Given the description of an element on the screen output the (x, y) to click on. 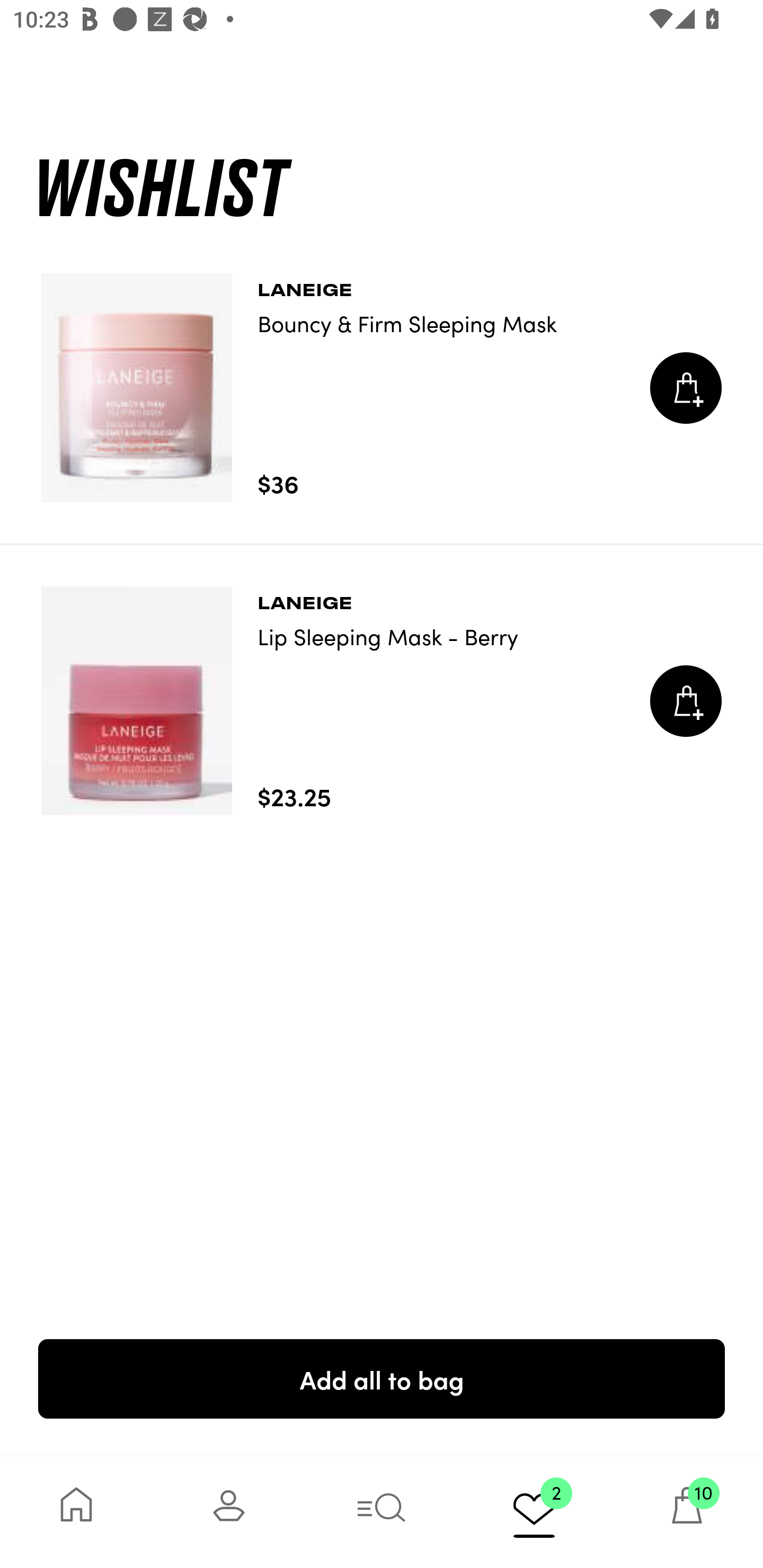
LANEIGE Bouncy & Firm Sleeping Mask $36 (381, 388)
LANEIGE Lip Sleeping Mask - Berry $23.25 (381, 700)
Add all to bag (381, 1379)
2 (533, 1512)
10 (686, 1512)
